Given the description of an element on the screen output the (x, y) to click on. 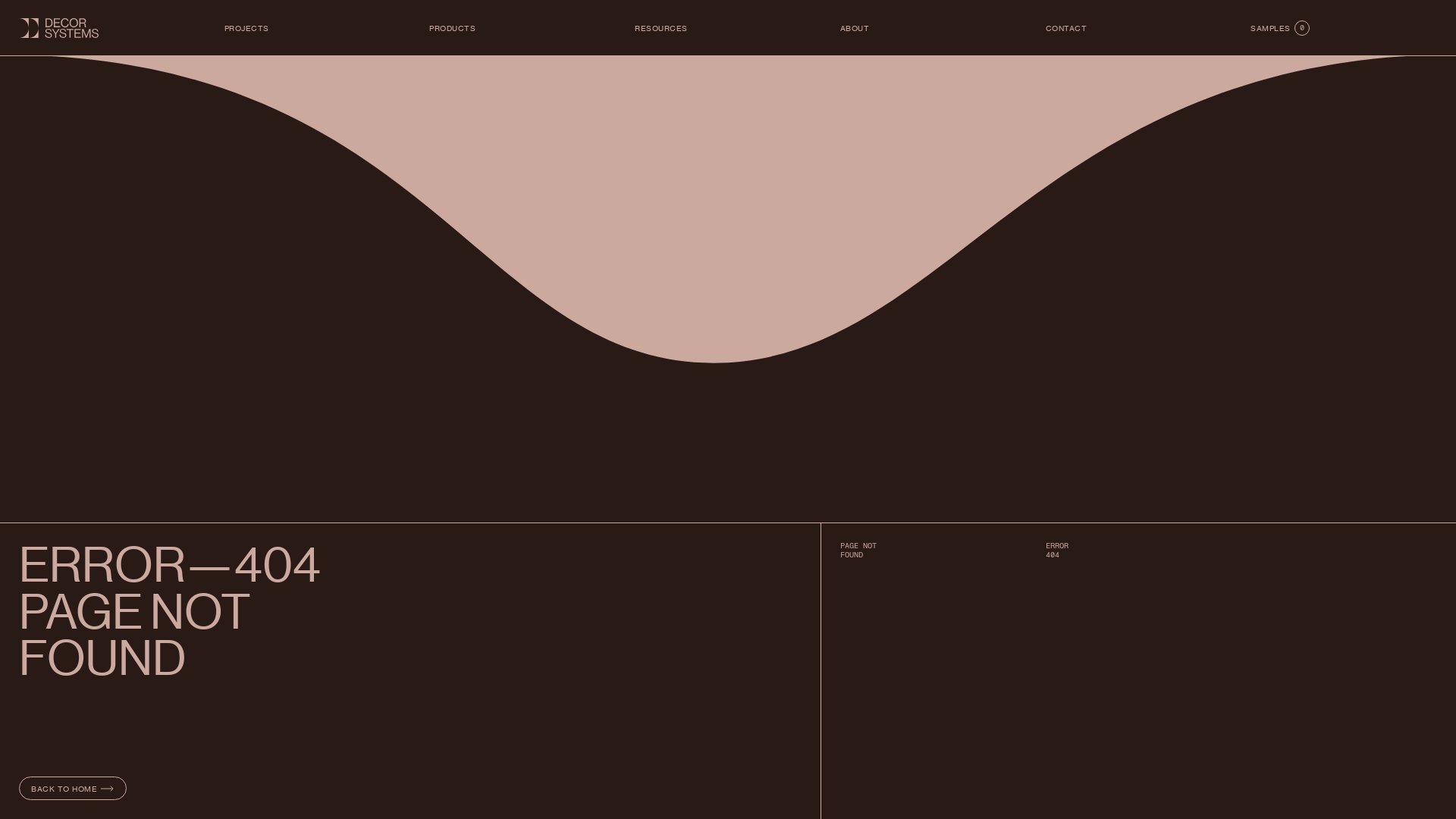
PROJECTS Element type: text (246, 27)
ABOUT Element type: text (854, 27)
BACK TO HOME Element type: text (72, 788)
PRODUCTS Element type: text (452, 27)
RESOURCES Element type: text (660, 27)
SAMPLES
0 Element type: text (1279, 27)
CONTACT Element type: text (1066, 27)
